Given the description of an element on the screen output the (x, y) to click on. 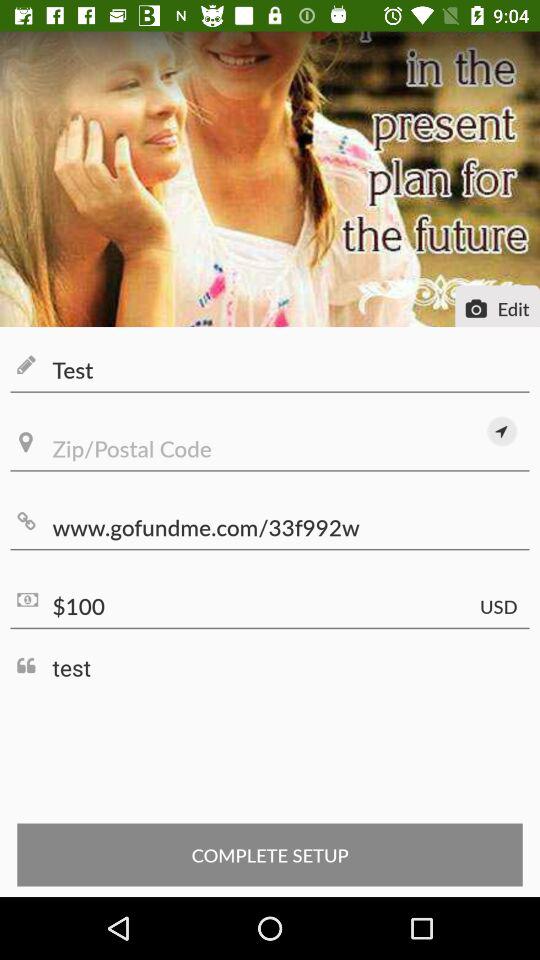
launch the item below www gofundme com item (269, 606)
